Given the description of an element on the screen output the (x, y) to click on. 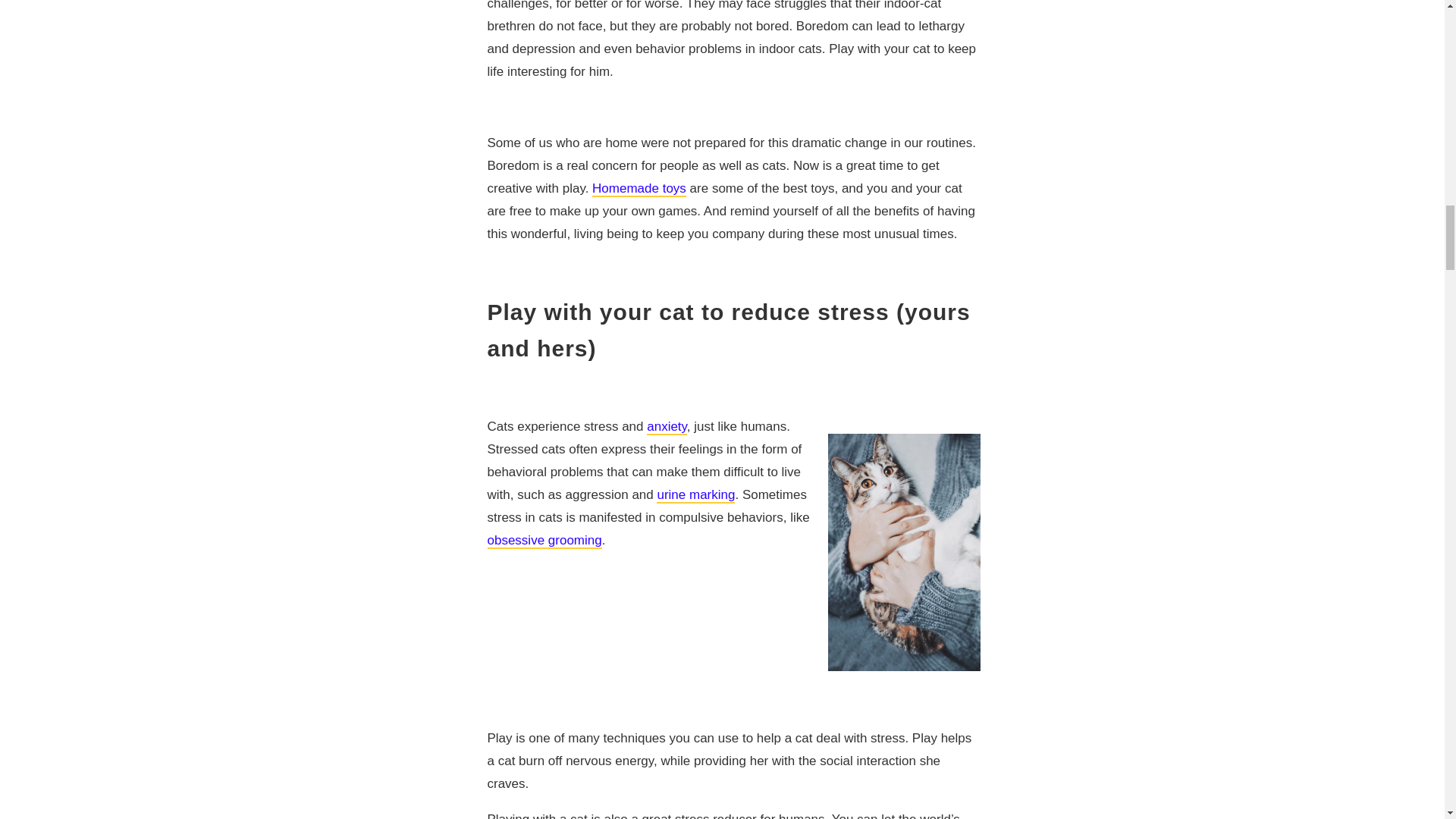
why do cats spray or mark with urine? (695, 495)
DIY toilet paper roll toys for your cat (638, 188)
obsessive grooming in cats (543, 540)
separation anxiety in cats (666, 426)
